Given the description of an element on the screen output the (x, y) to click on. 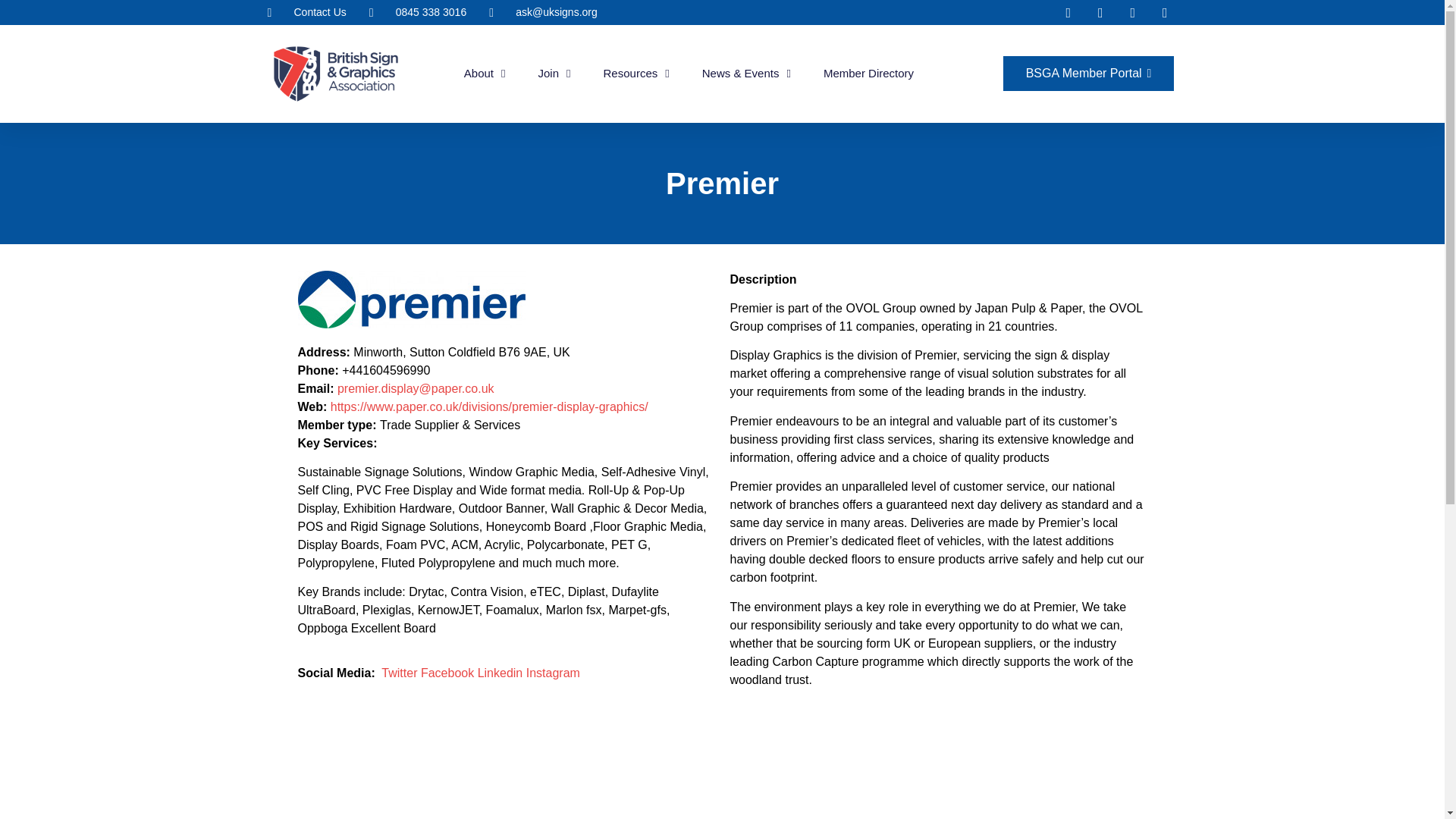
Member Directory (869, 73)
Contact Us (306, 12)
About (484, 73)
Resources (636, 73)
Minworth, Sutton Coldfield B76 9AE, UK (938, 781)
0845 338 3016 (417, 12)
Join (554, 73)
